Given the description of an element on the screen output the (x, y) to click on. 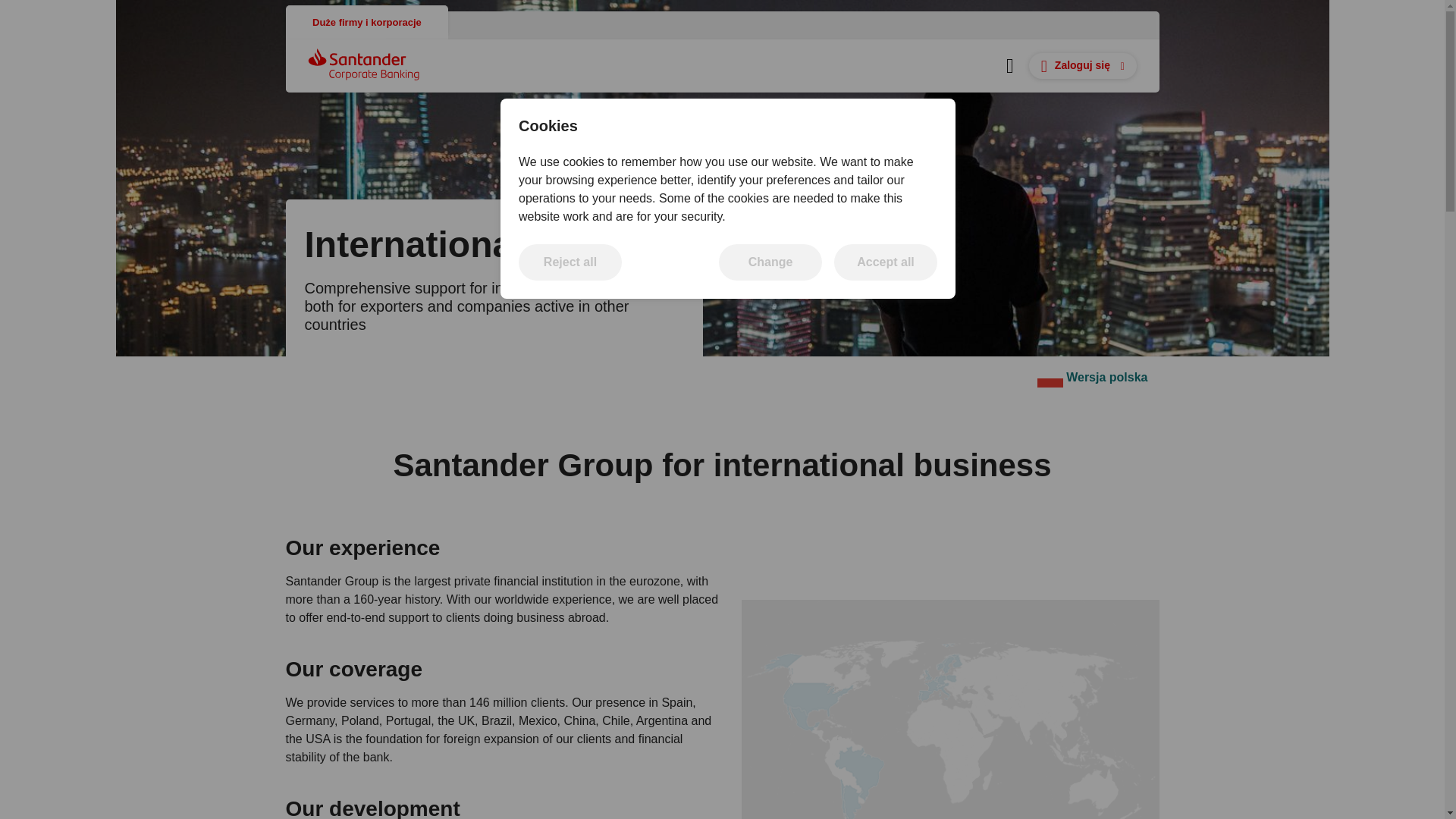
 Wersja polska (569, 262)
